Given the description of an element on the screen output the (x, y) to click on. 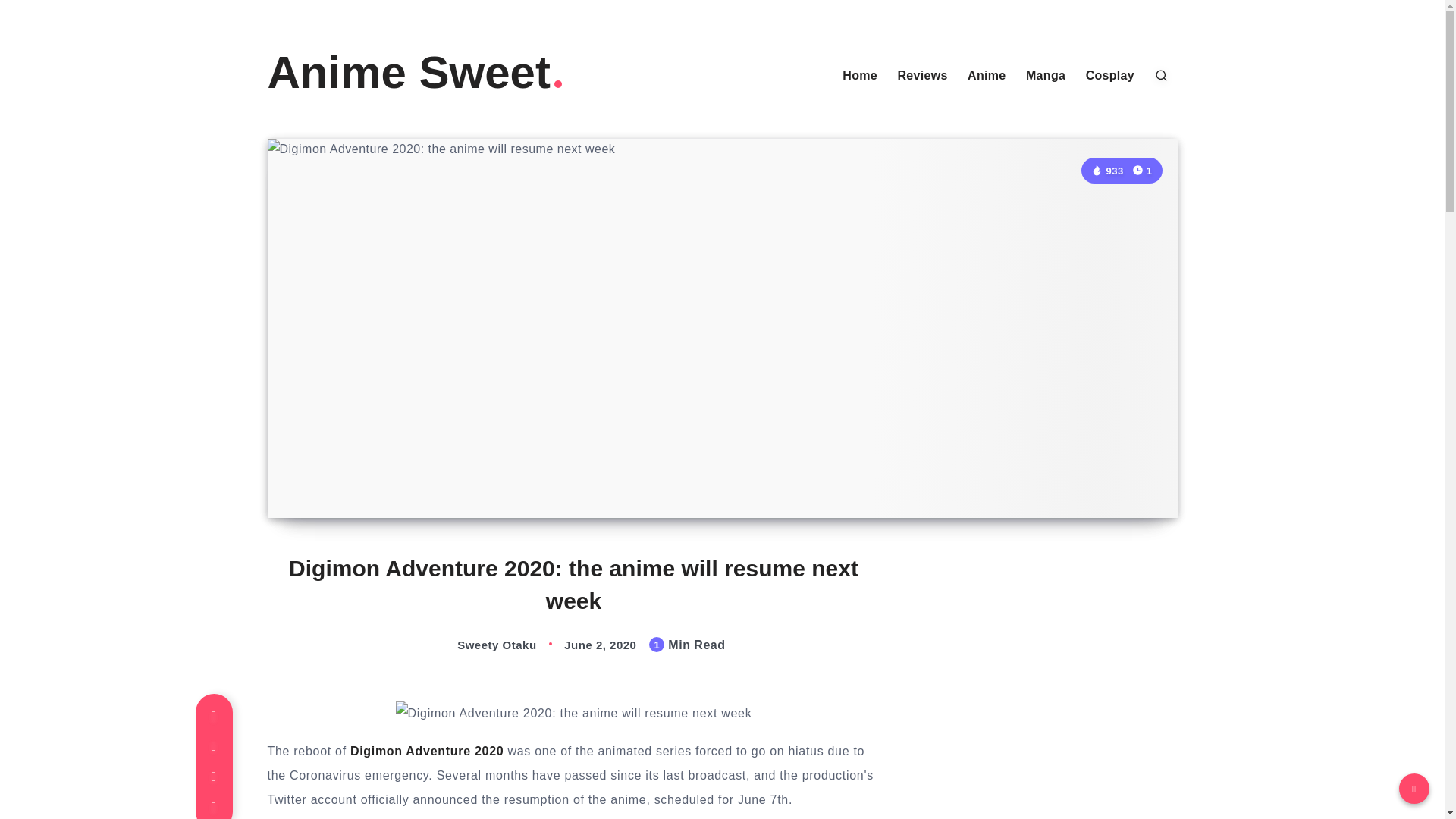
933 Views (1106, 170)
Digimon Adventure 2020: the anime will resume next week (574, 712)
1 Min Read (1142, 170)
Home (860, 75)
Author: Sweety Otaku (481, 644)
Reviews (921, 75)
Manga (1045, 75)
Cosplay (1110, 75)
Anime Sweet (415, 72)
Sweety Otaku (481, 644)
Anime (987, 75)
